Given the description of an element on the screen output the (x, y) to click on. 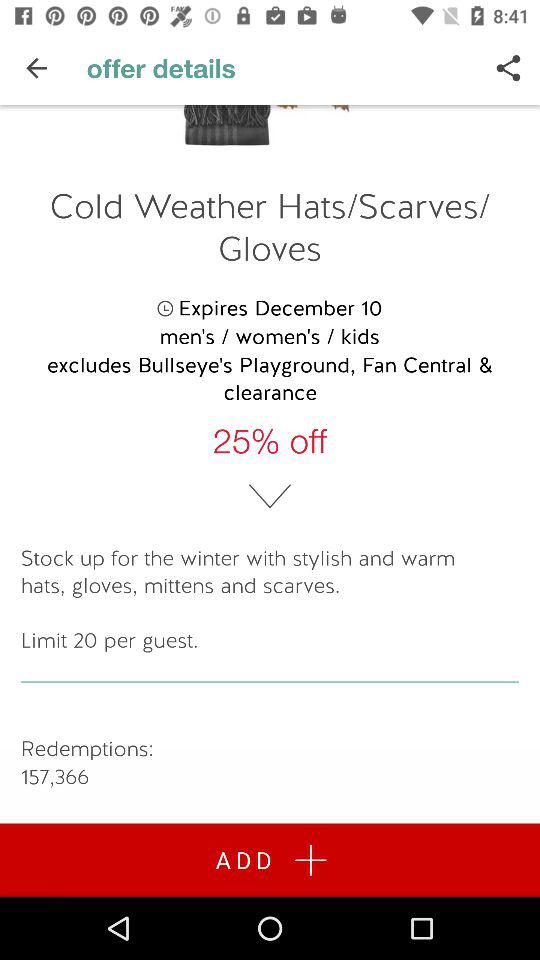
turn on the item at the top right corner (508, 67)
